Given the description of an element on the screen output the (x, y) to click on. 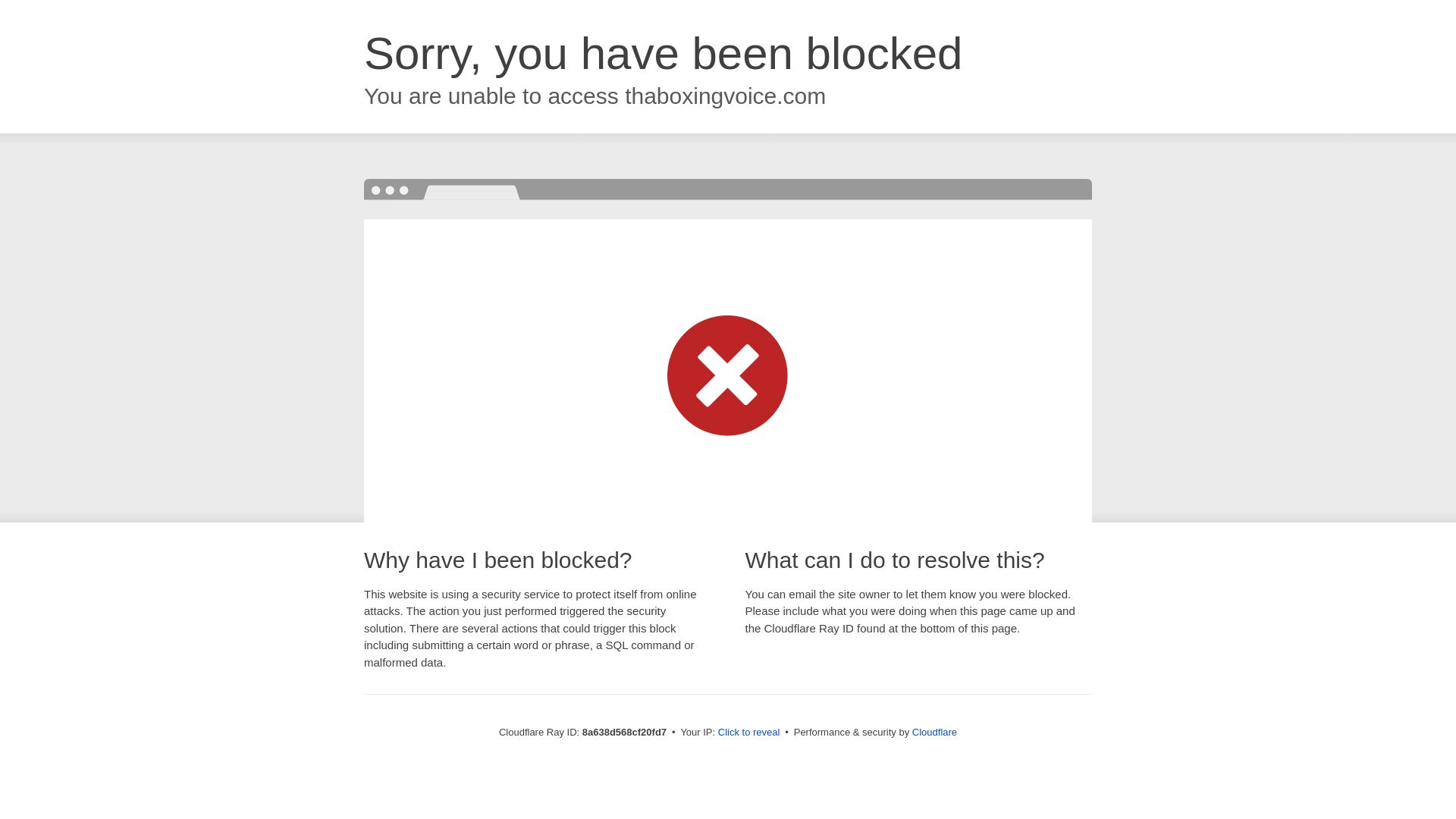
Click to reveal (748, 732)
Cloudflare (934, 731)
